Given the description of an element on the screen output the (x, y) to click on. 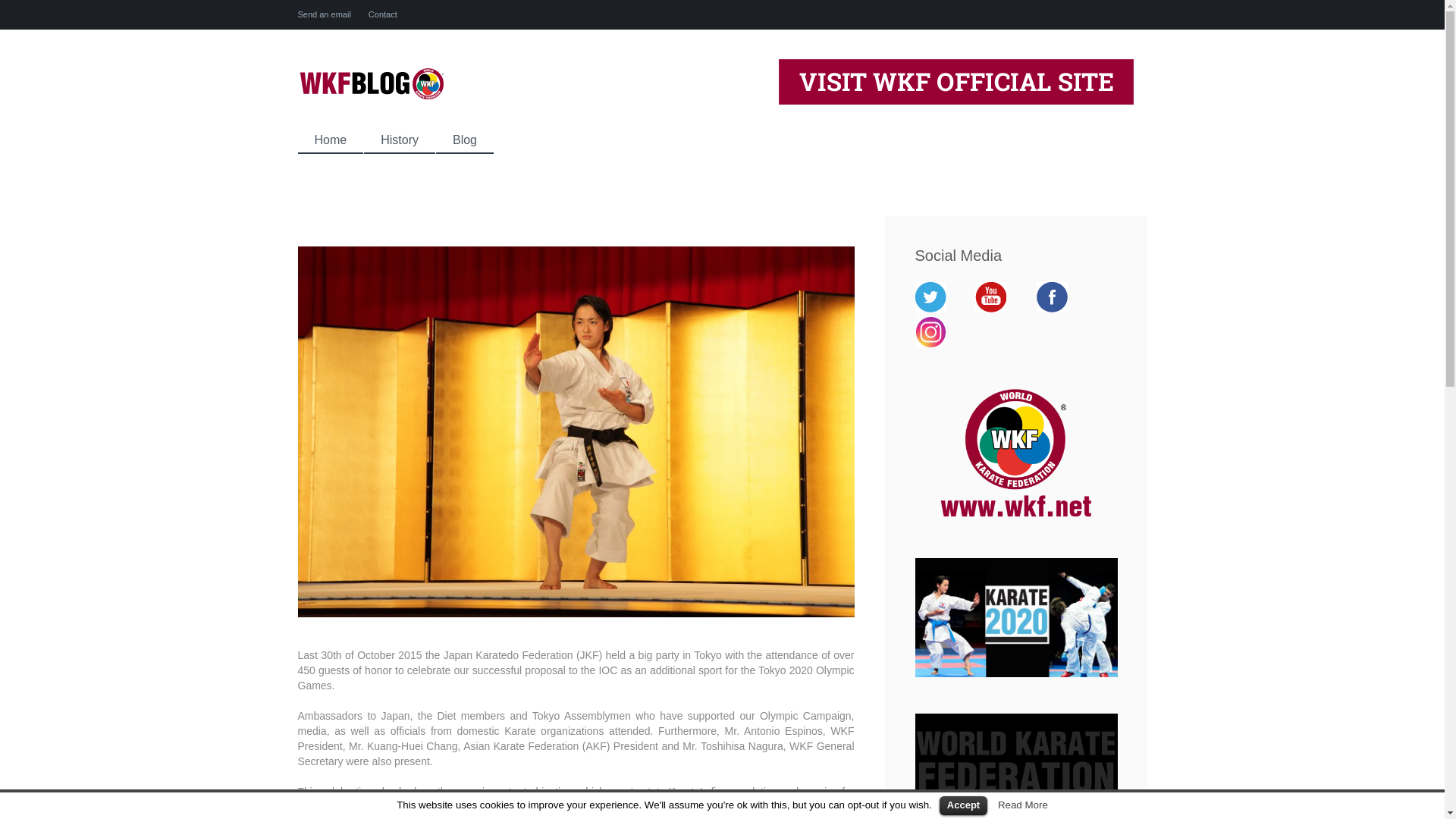
Blog (464, 139)
Send an email (323, 13)
Federation (547, 654)
Karate (519, 730)
Contact (382, 13)
Home (329, 139)
Accept (963, 805)
Read More (1022, 804)
History (399, 139)
